Given the description of an element on the screen output the (x, y) to click on. 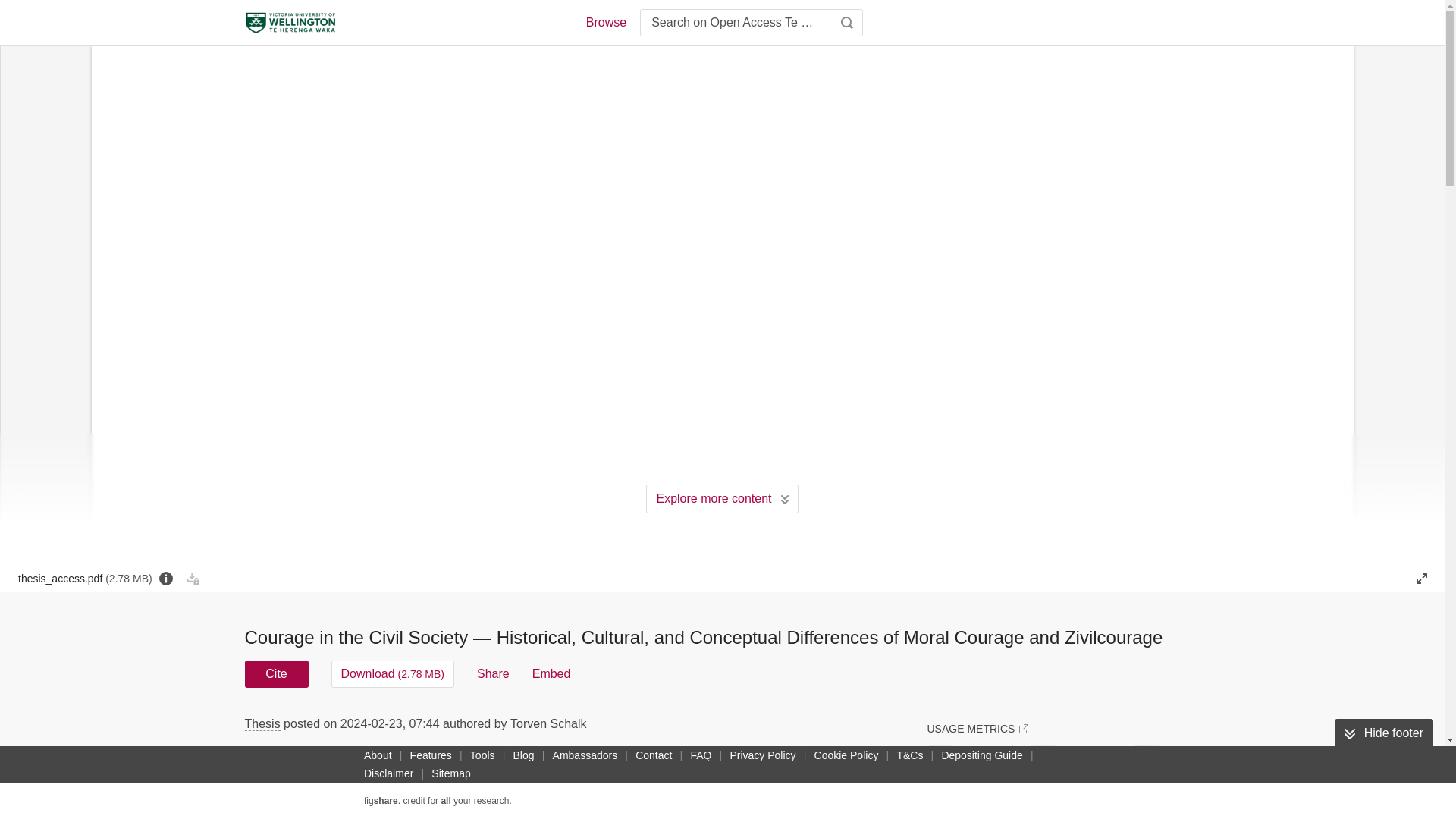
Explore more content (721, 498)
Embed (551, 673)
Browse (605, 22)
USAGE METRICS (976, 728)
Share (493, 673)
Cite (275, 673)
